Given the description of an element on the screen output the (x, y) to click on. 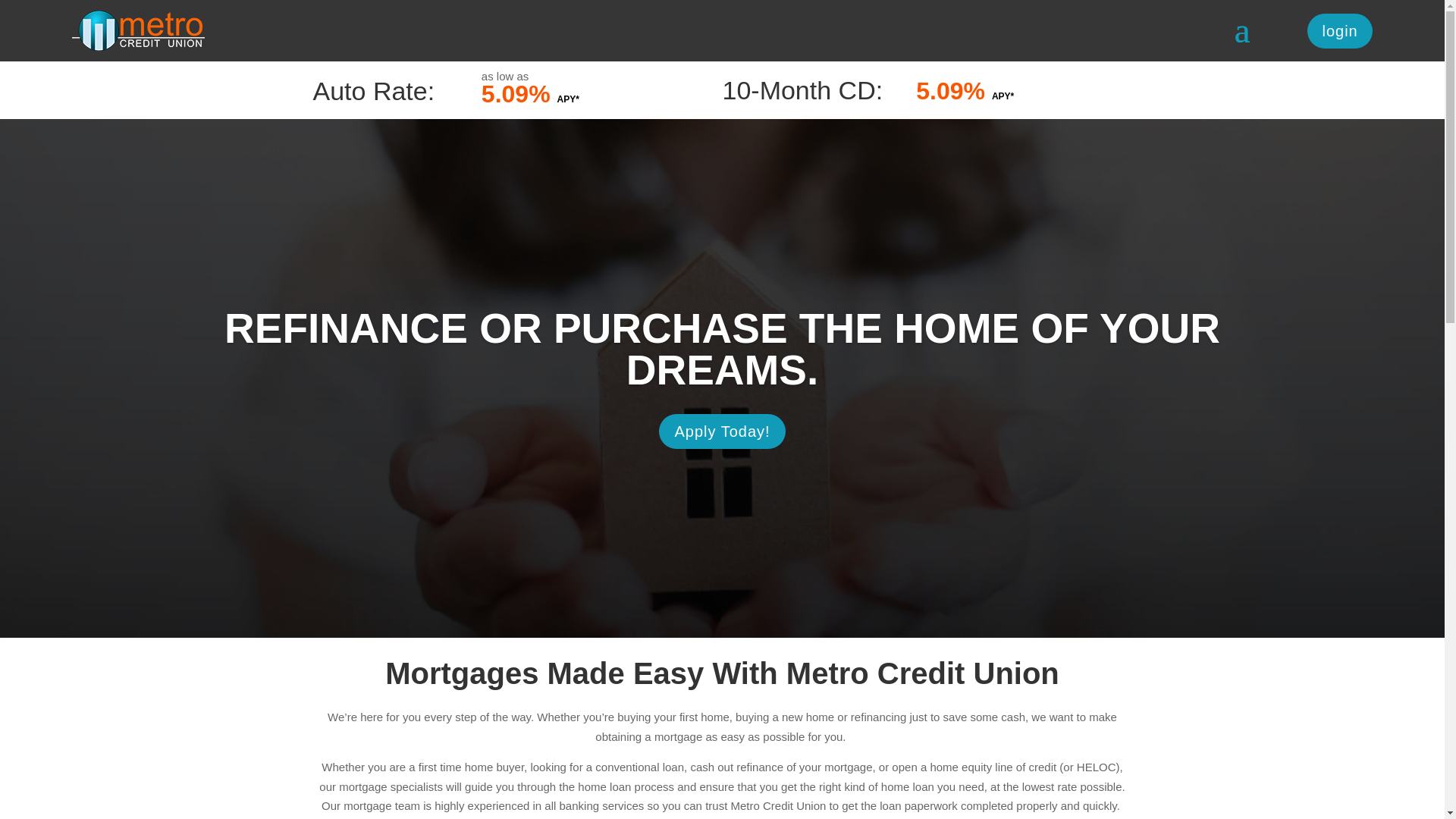
login (1339, 30)
banking services (602, 805)
